Given the description of an element on the screen output the (x, y) to click on. 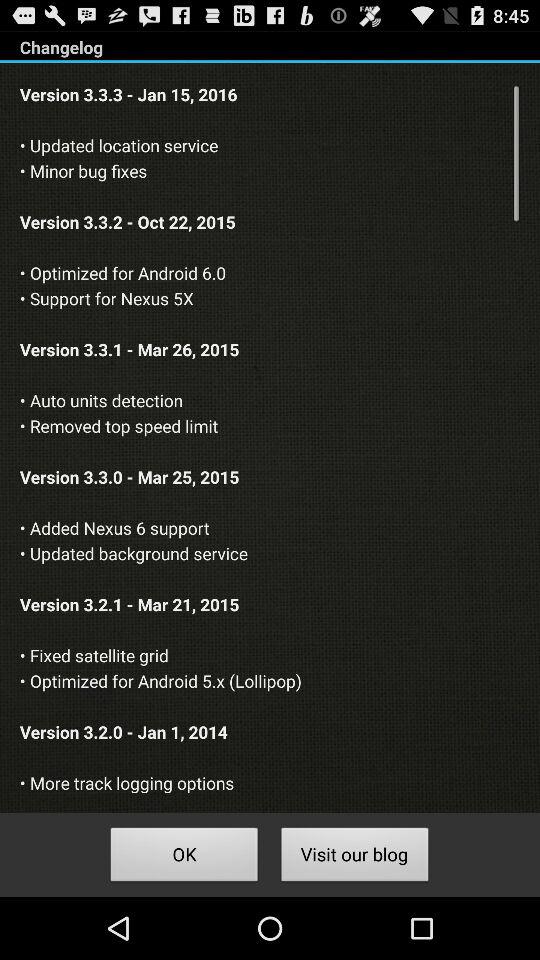
turn off ok button (184, 857)
